Given the description of an element on the screen output the (x, y) to click on. 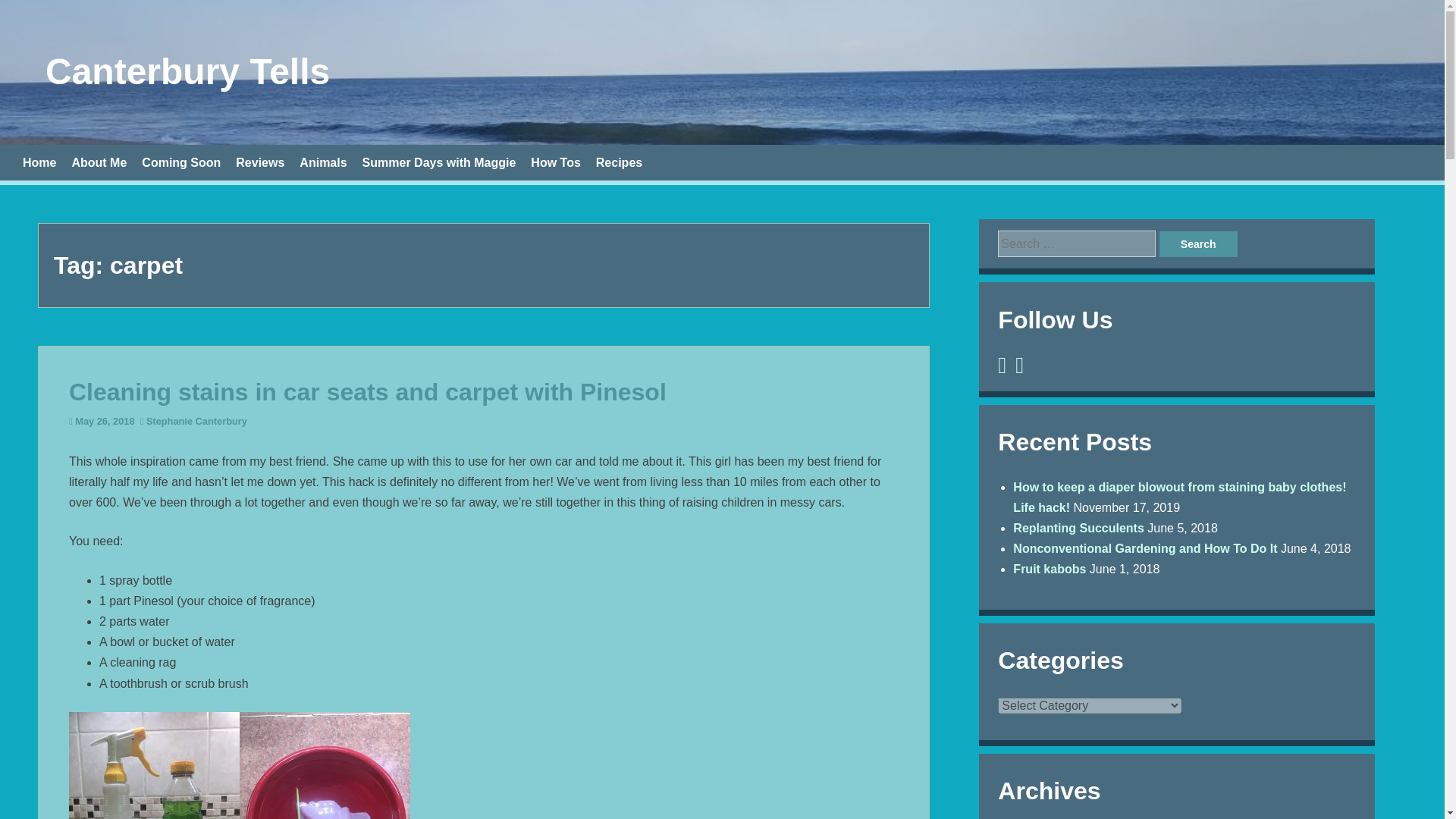
Reviews (259, 162)
How Tos (555, 162)
May 26, 2018 (104, 420)
Coming Soon (181, 162)
Recipes (618, 162)
Animals (322, 162)
Summer Days with Maggie (439, 162)
About Me (98, 162)
Cleaning stains in car seats and carpet with Pinesol (367, 391)
Stephanie Canterbury (197, 420)
